Given the description of an element on the screen output the (x, y) to click on. 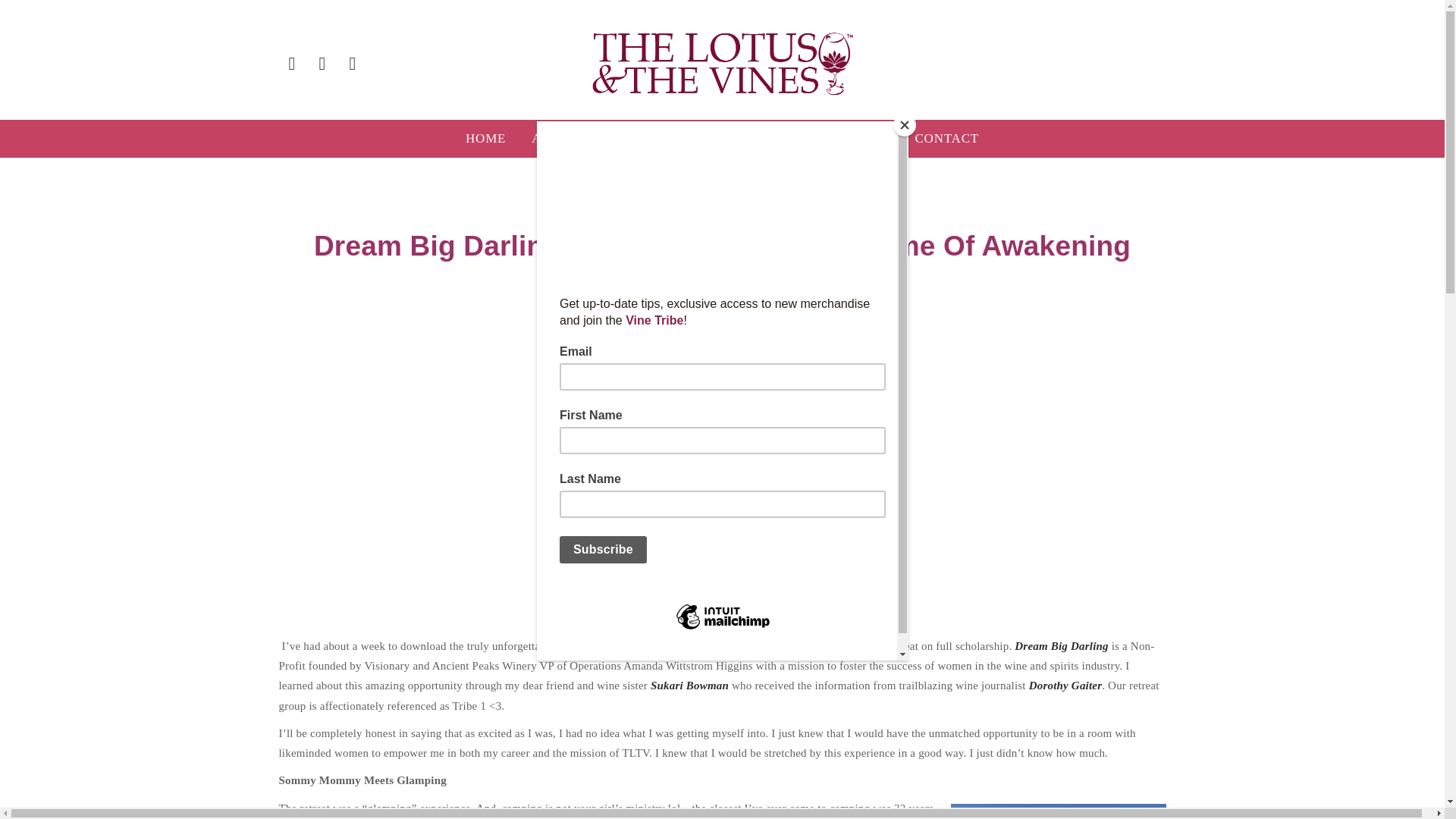
Facebook (292, 64)
Instagram (352, 64)
Sukari Bowman (689, 685)
CONTACT (946, 138)
Dorothy Gaiter (1065, 685)
ABOUT US (565, 138)
LOTUS LESSONS (721, 212)
TLTV BLOG: LOTUS LESSONS (721, 138)
Twitter (322, 64)
The Lotus and The Vines (722, 63)
HOME (485, 138)
MEDIA (866, 138)
Dream Big Darling (1061, 645)
